Given the description of an element on the screen output the (x, y) to click on. 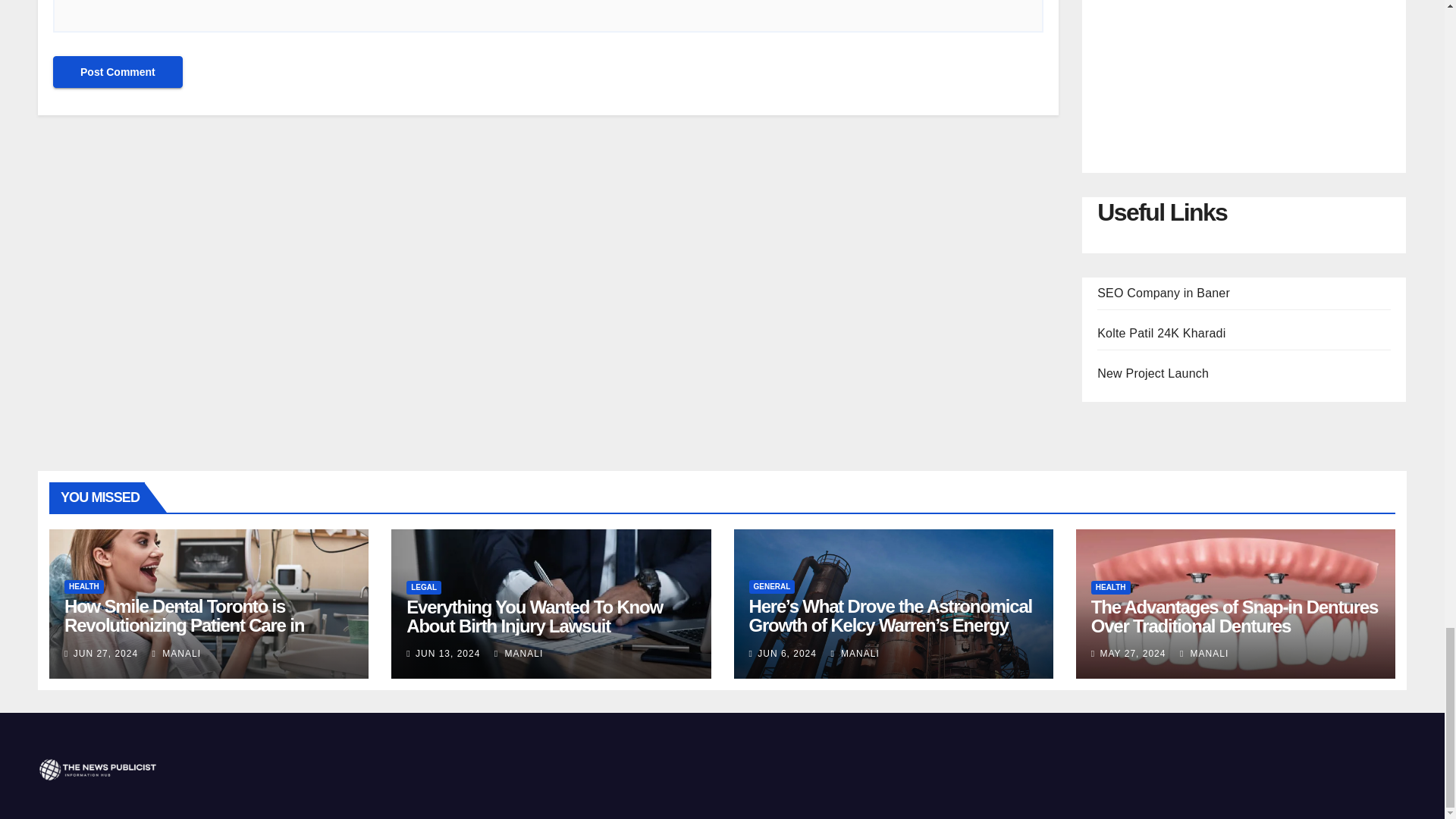
Post Comment (117, 71)
